Given the description of an element on the screen output the (x, y) to click on. 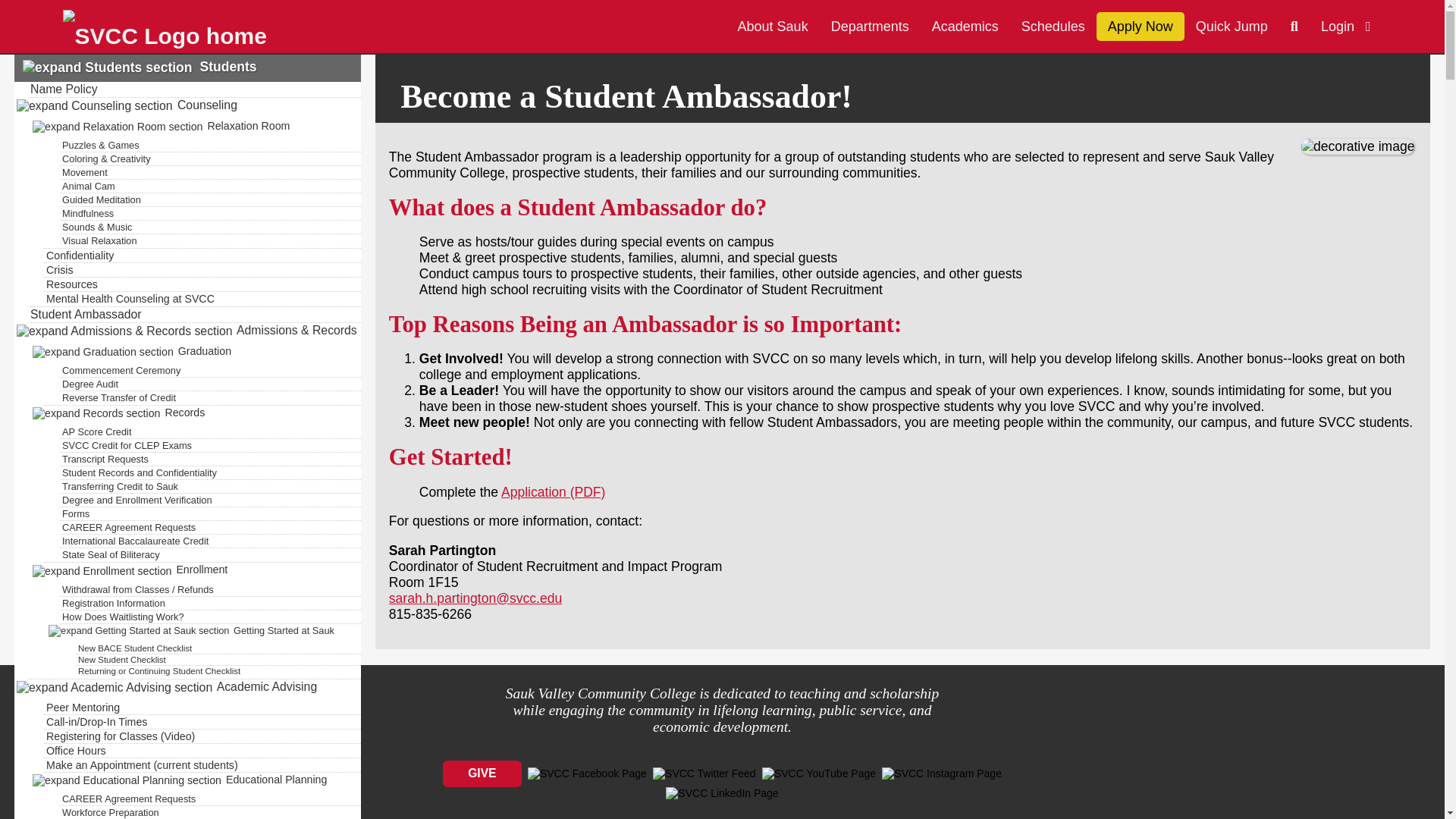
expand Educational Planning section (126, 779)
About Sauk (772, 26)
expand Students section (104, 66)
Departments (869, 26)
expand Graduation section (102, 350)
expand Counseling section (94, 104)
expand Academic Advising section (114, 686)
expand Records section (96, 412)
expand Getting Started at Sauk section (138, 630)
expand Enrollment section (101, 569)
